Given the description of an element on the screen output the (x, y) to click on. 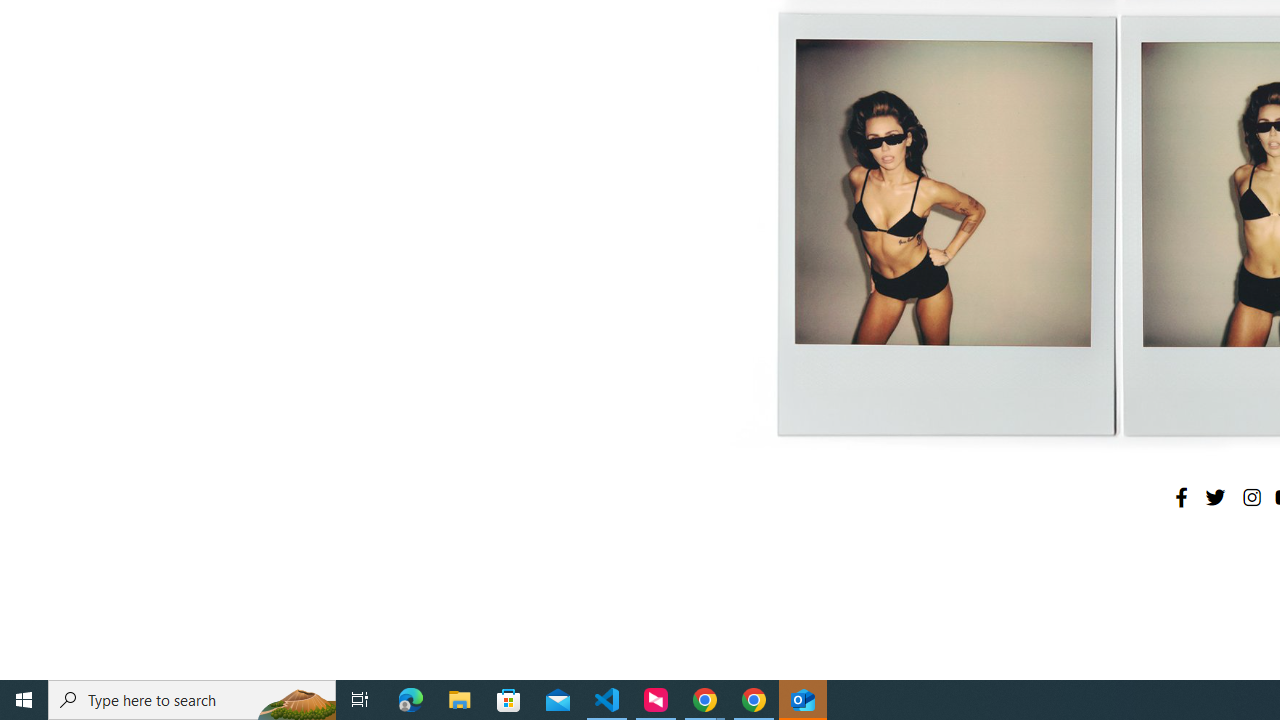
Instagram (1251, 497)
Facebook (1181, 497)
